Given the description of an element on the screen output the (x, y) to click on. 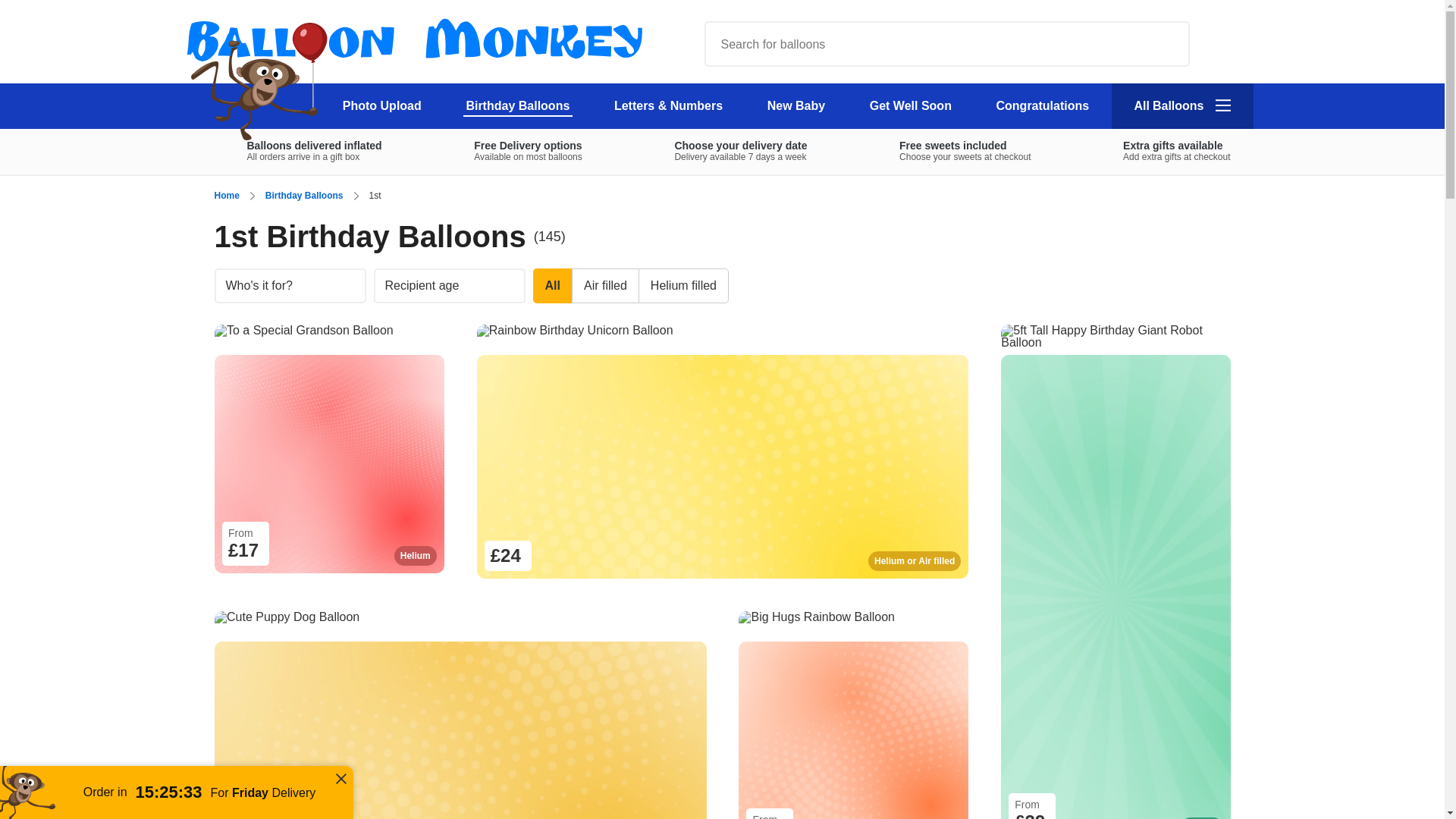
New Baby (795, 105)
Open (724, 151)
Homepage (1222, 42)
Get Well Soon (456, 72)
Birthday Balloons (1160, 151)
Photo Upload (910, 105)
Congratulations (518, 105)
close (382, 105)
